Given the description of an element on the screen output the (x, y) to click on. 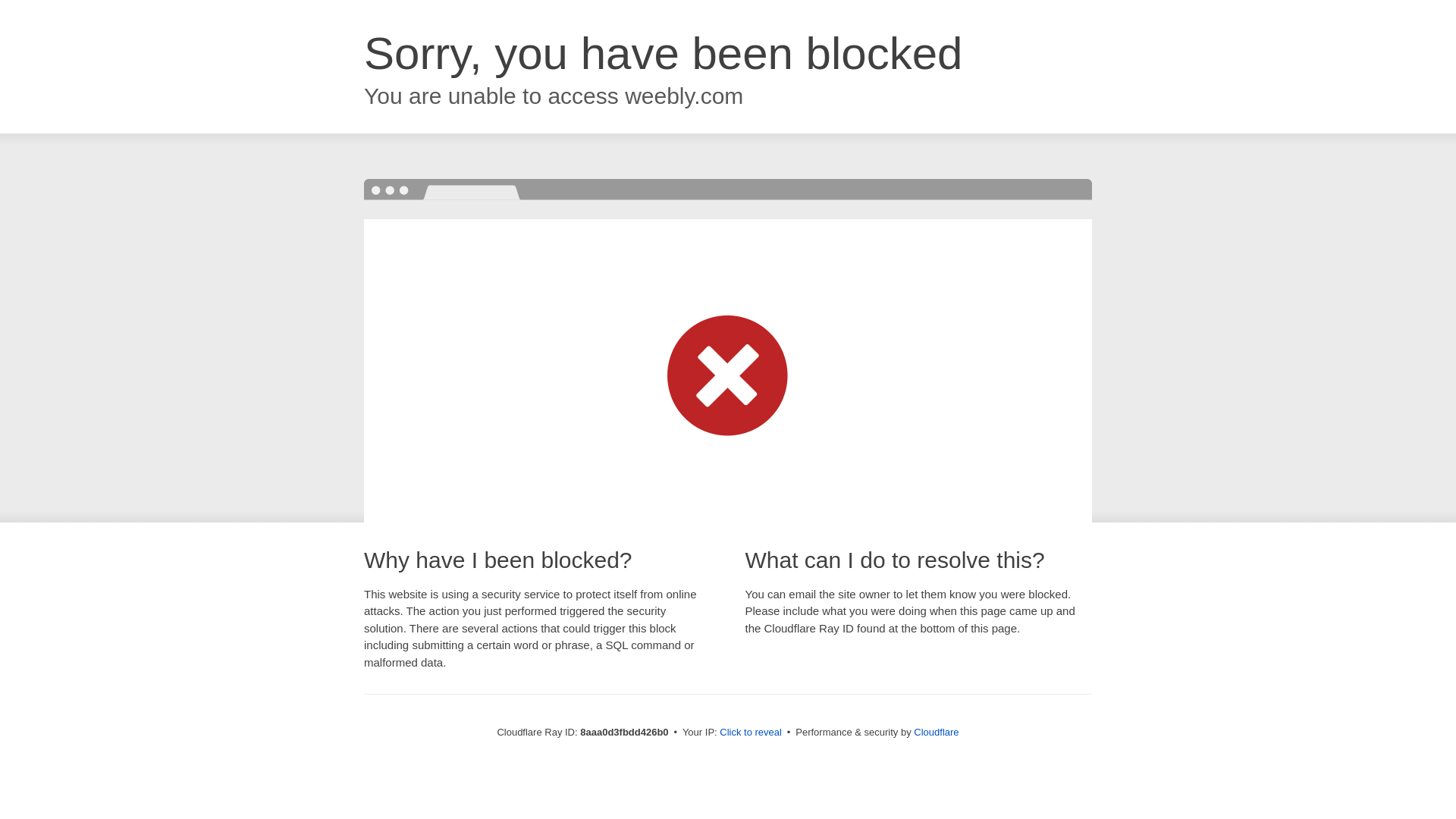
Click to reveal (750, 732)
Cloudflare (936, 731)
